Given the description of an element on the screen output the (x, y) to click on. 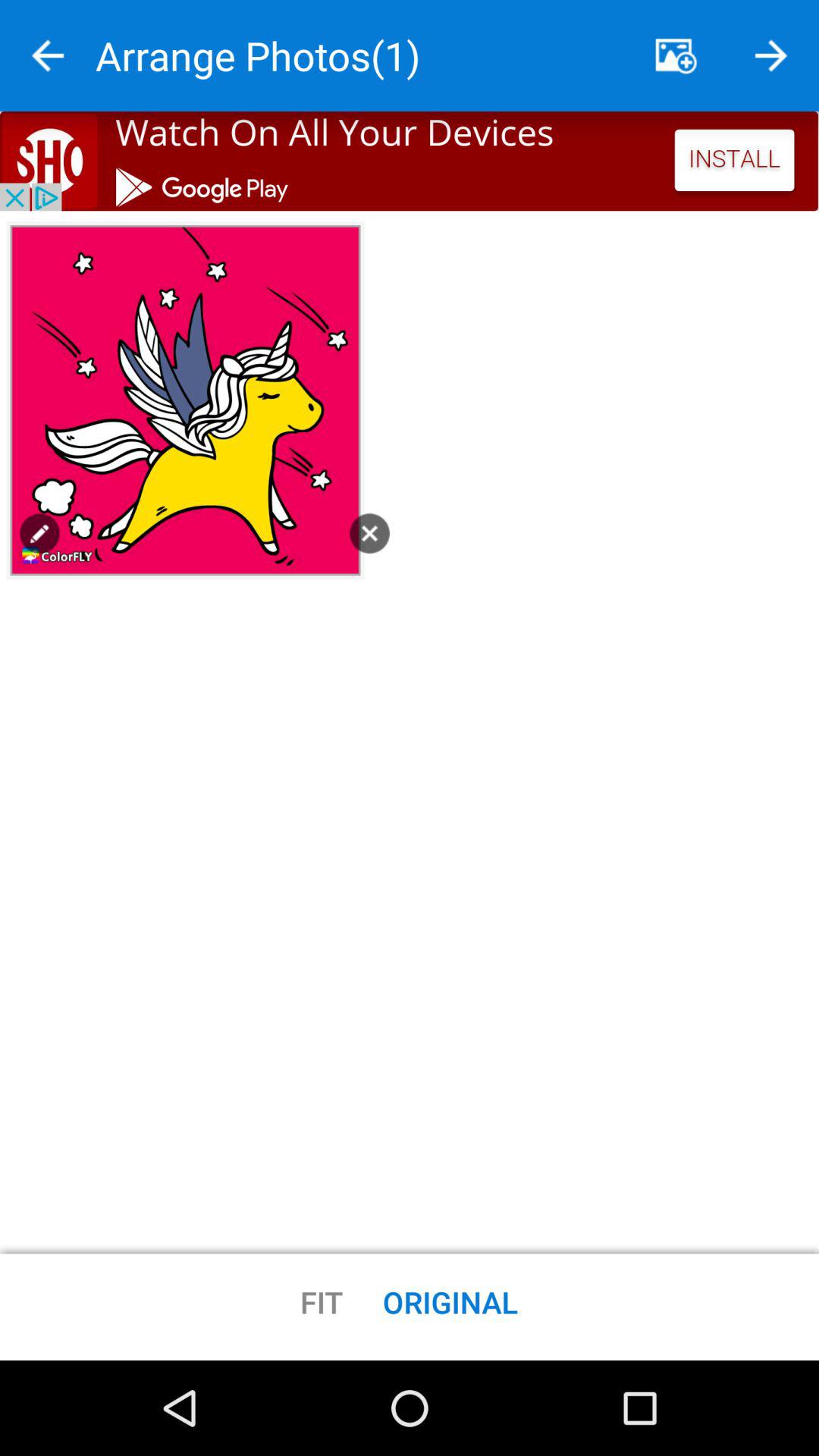
go to rite (47, 55)
